Given the description of an element on the screen output the (x, y) to click on. 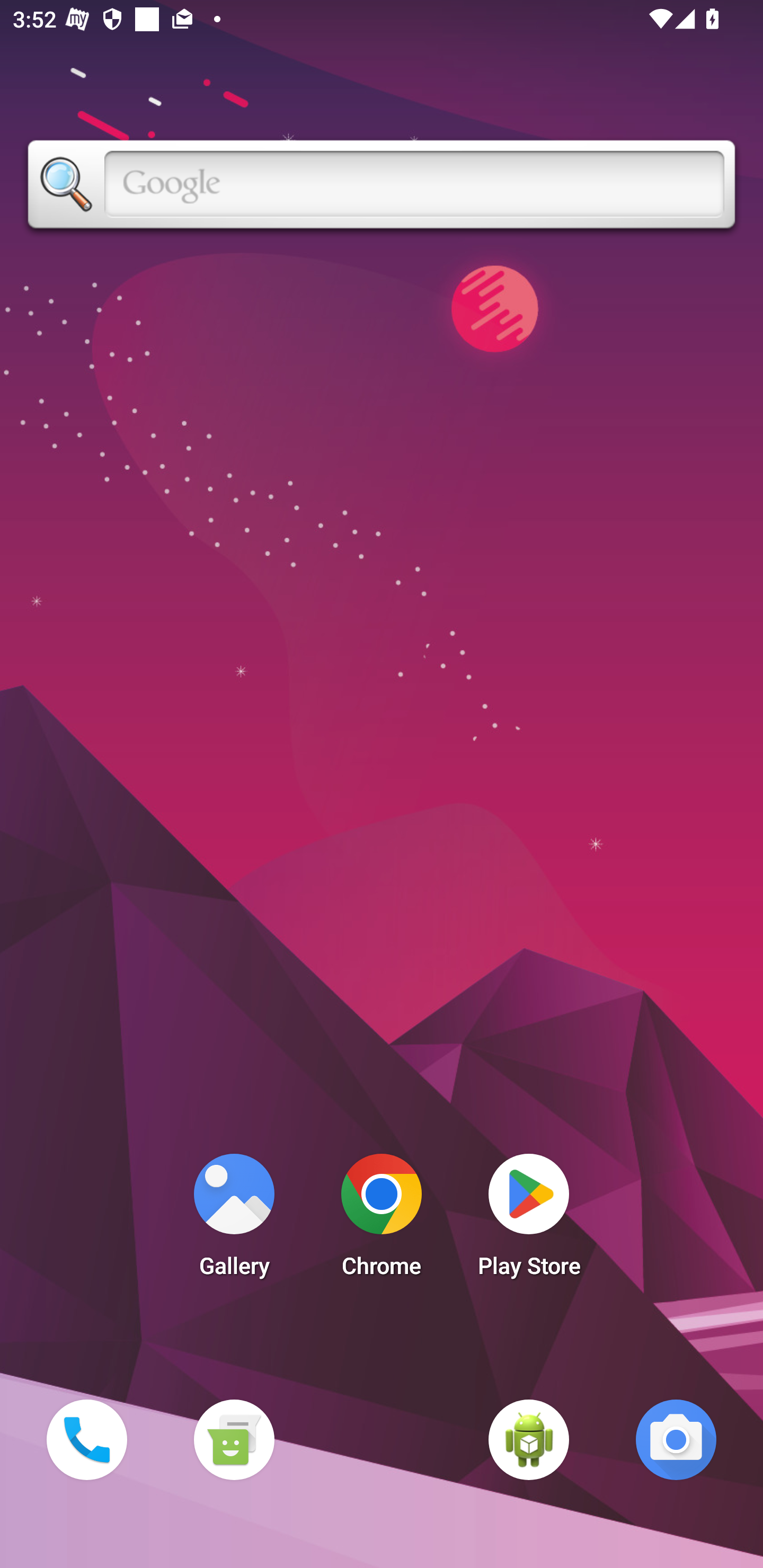
Gallery (233, 1220)
Chrome (381, 1220)
Play Store (528, 1220)
Phone (86, 1439)
Messaging (233, 1439)
WebView Browser Tester (528, 1439)
Camera (676, 1439)
